Given the description of an element on the screen output the (x, y) to click on. 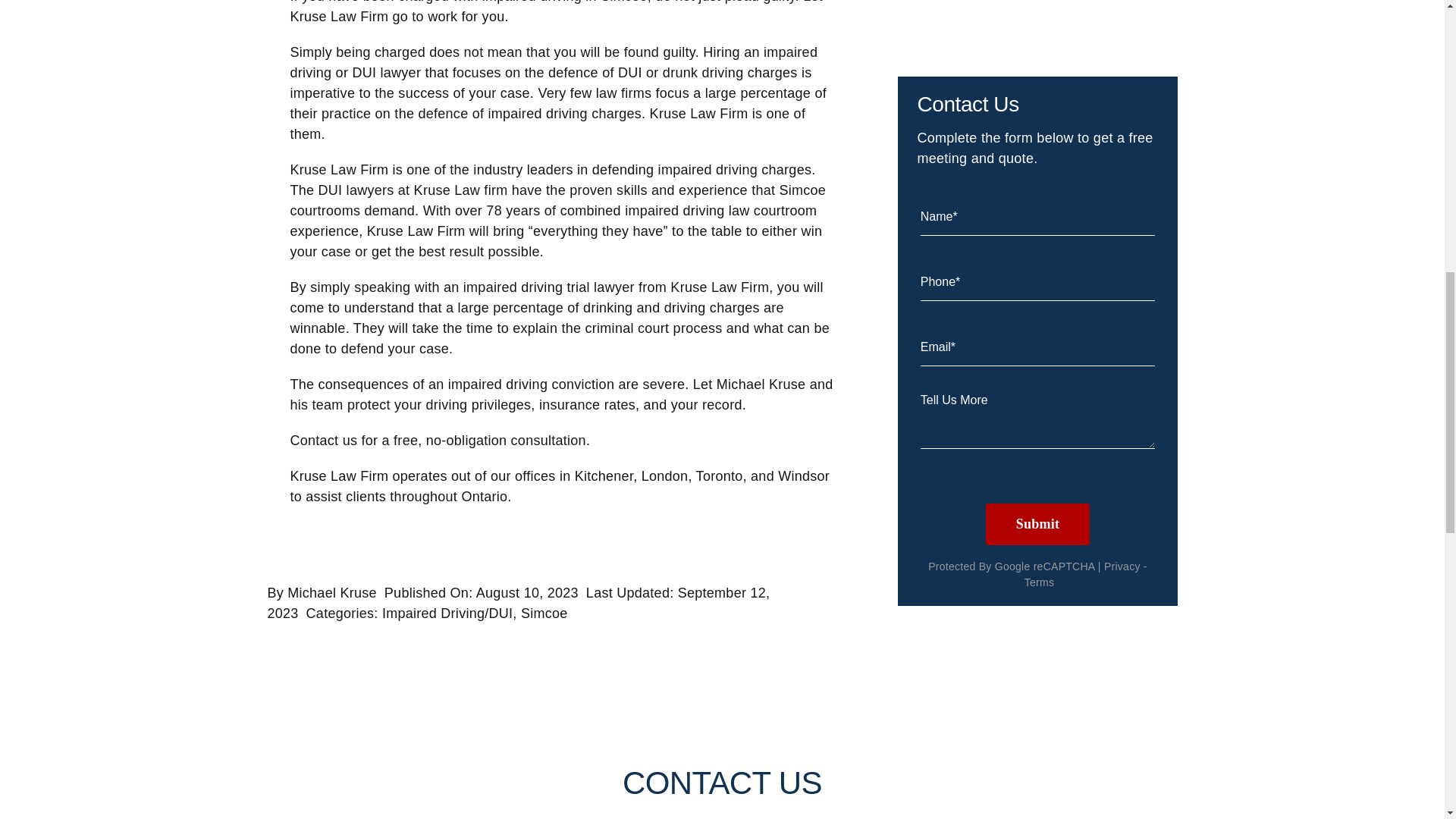
Posts by Michael Kruse (331, 592)
